Given the description of an element on the screen output the (x, y) to click on. 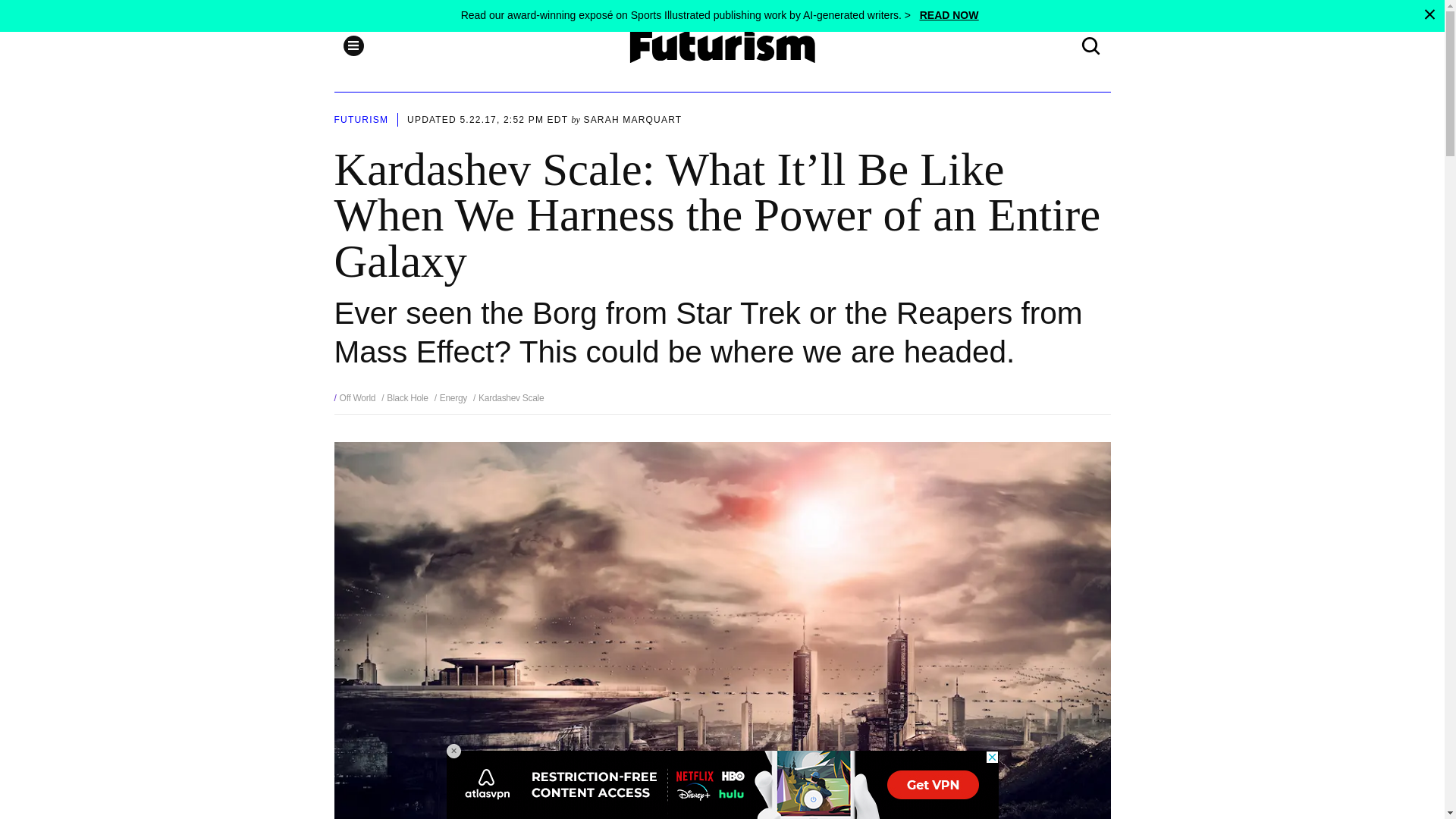
SARAH MARQUART (632, 119)
kardashev scale (508, 398)
black hole (404, 398)
Futurism (722, 45)
energy (450, 398)
Sarah Marquart (632, 119)
Off World (357, 398)
Off World (357, 398)
